Given the description of an element on the screen output the (x, y) to click on. 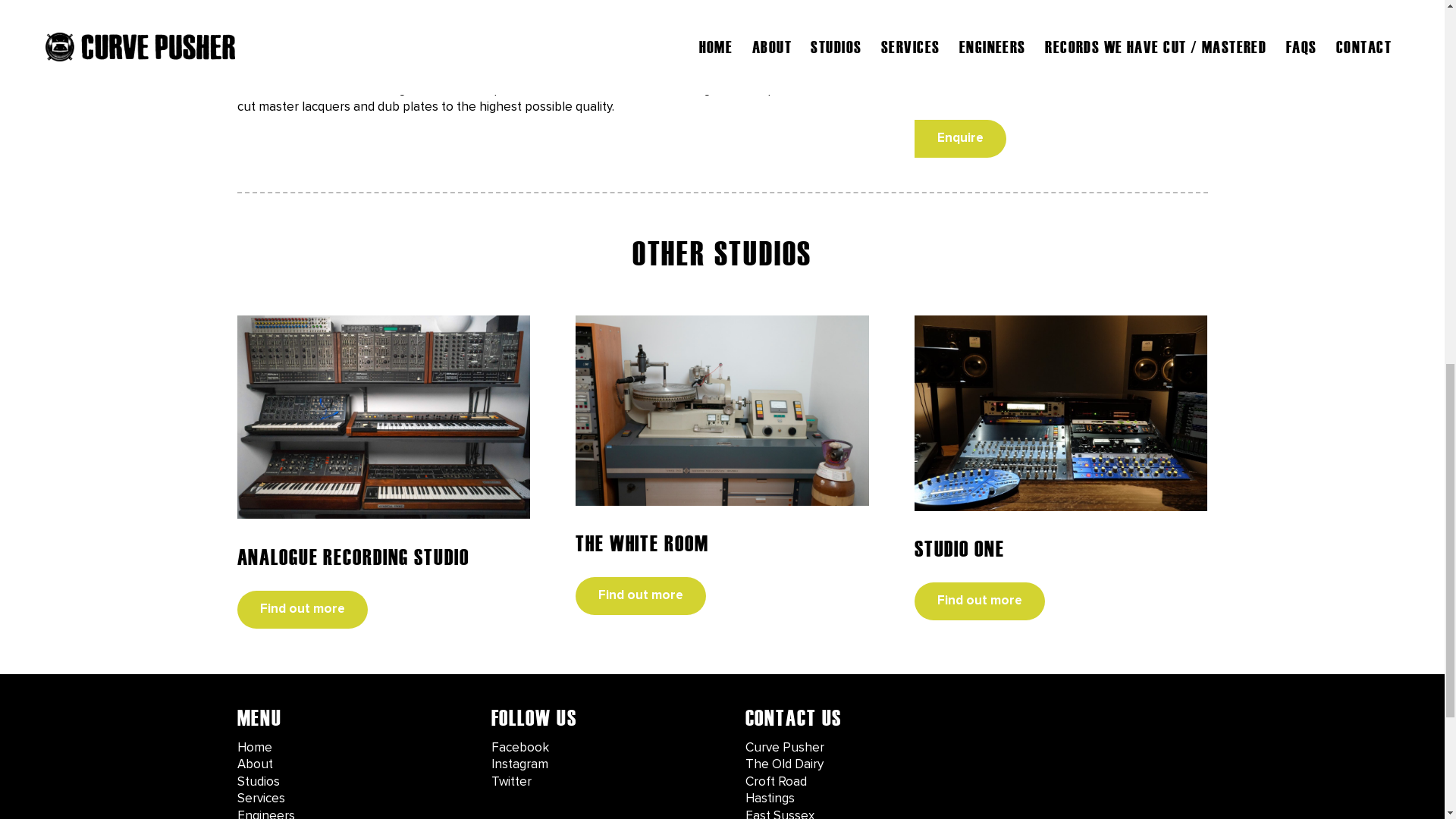
Klark Technic DN6000 Audio Analyzer (1061, 18)
Struder A810 Quarter Inch Tape Machine (1061, 48)
Find out more (300, 608)
ANALOGUE RECORDING STUDIO (351, 557)
THE WHITE ROOM (641, 543)
Enquire (960, 138)
